Given the description of an element on the screen output the (x, y) to click on. 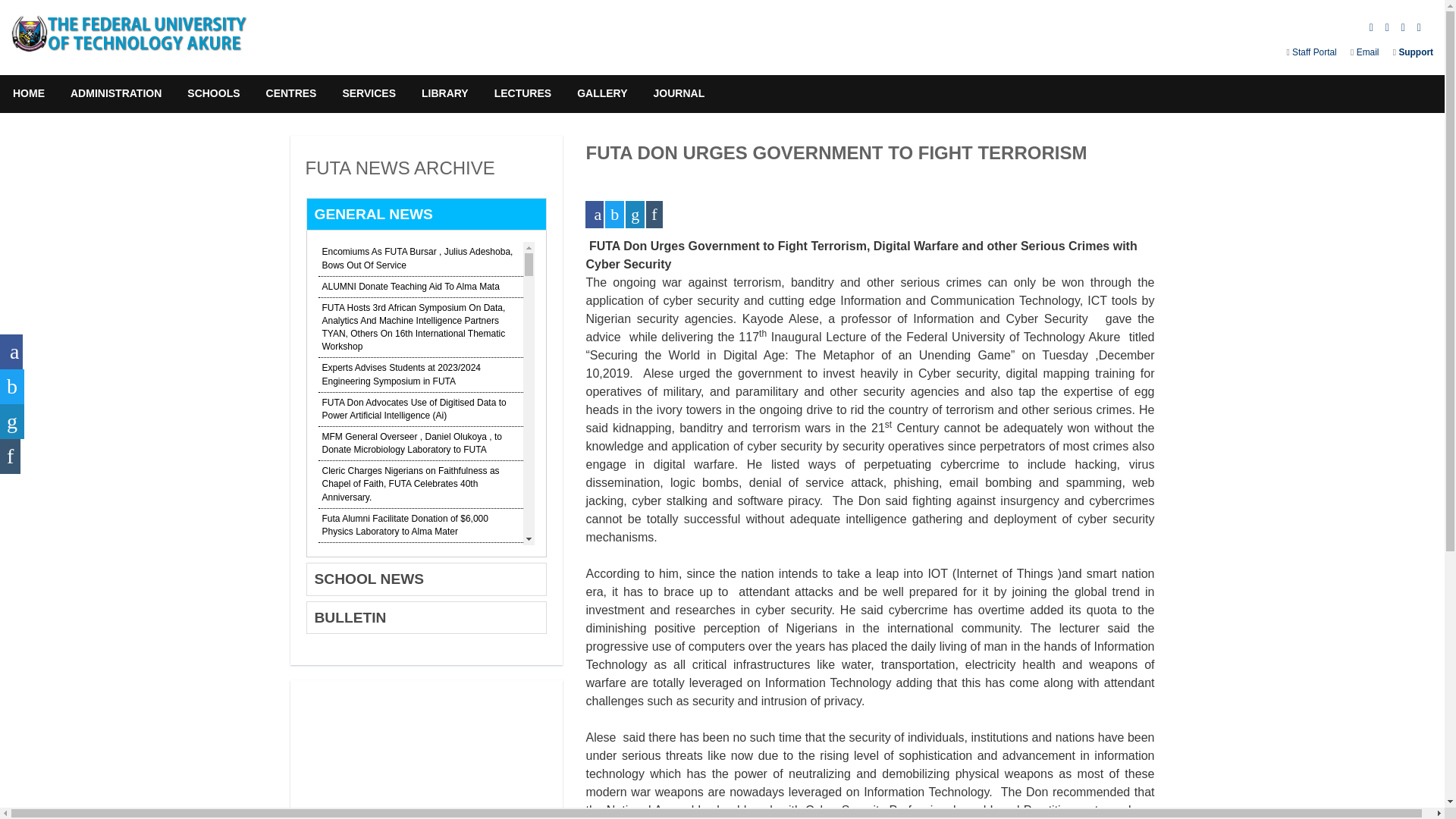
Support (1414, 51)
CENTRES (291, 94)
HOME (29, 94)
SCHOOLS (212, 94)
